Given the description of an element on the screen output the (x, y) to click on. 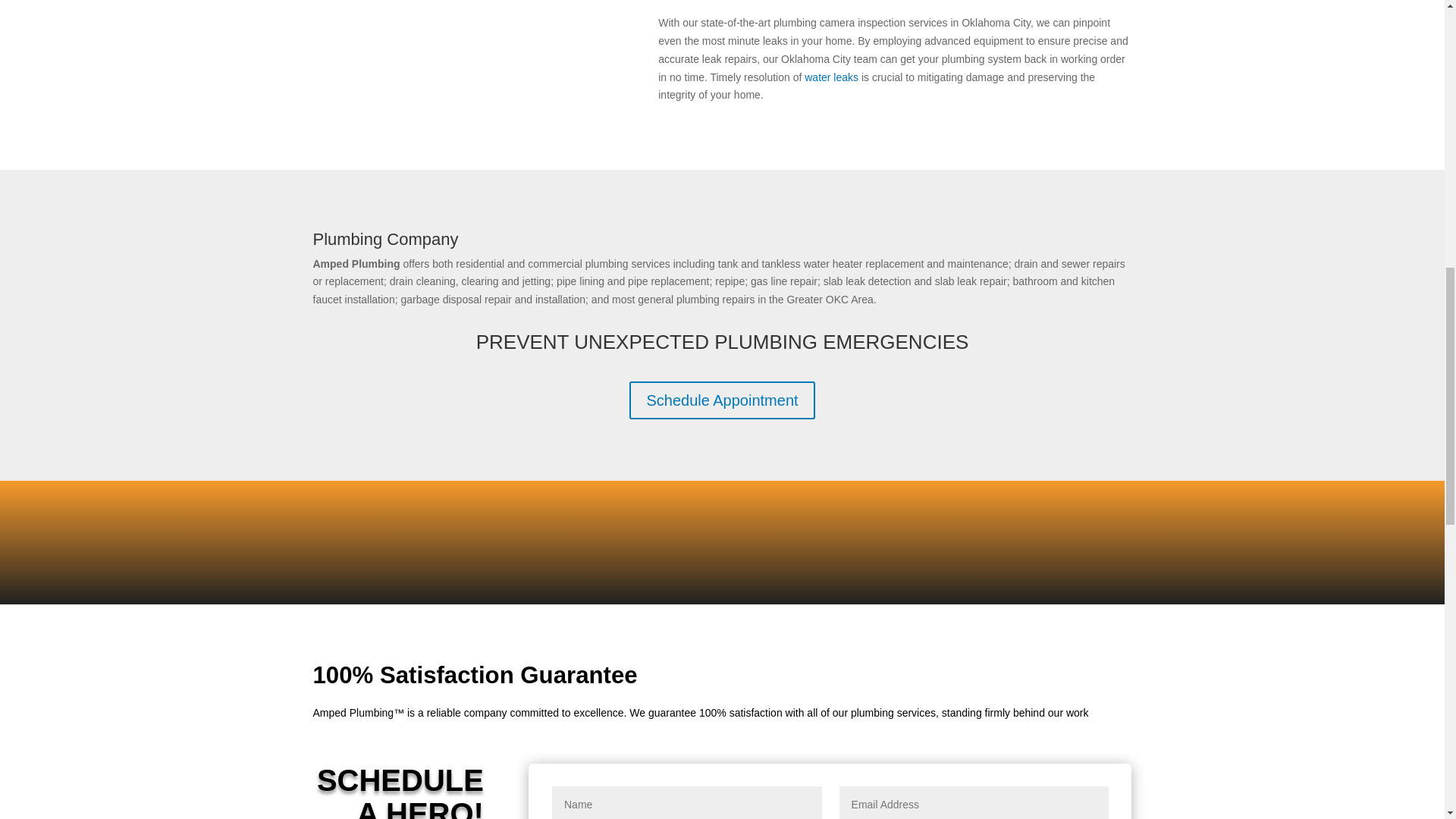
Schedule Appointment (720, 400)
water-leak-detection-oklahoma-city-yukon-moore-edmond-ok (462, 54)
water leaks (832, 77)
